Given the description of an element on the screen output the (x, y) to click on. 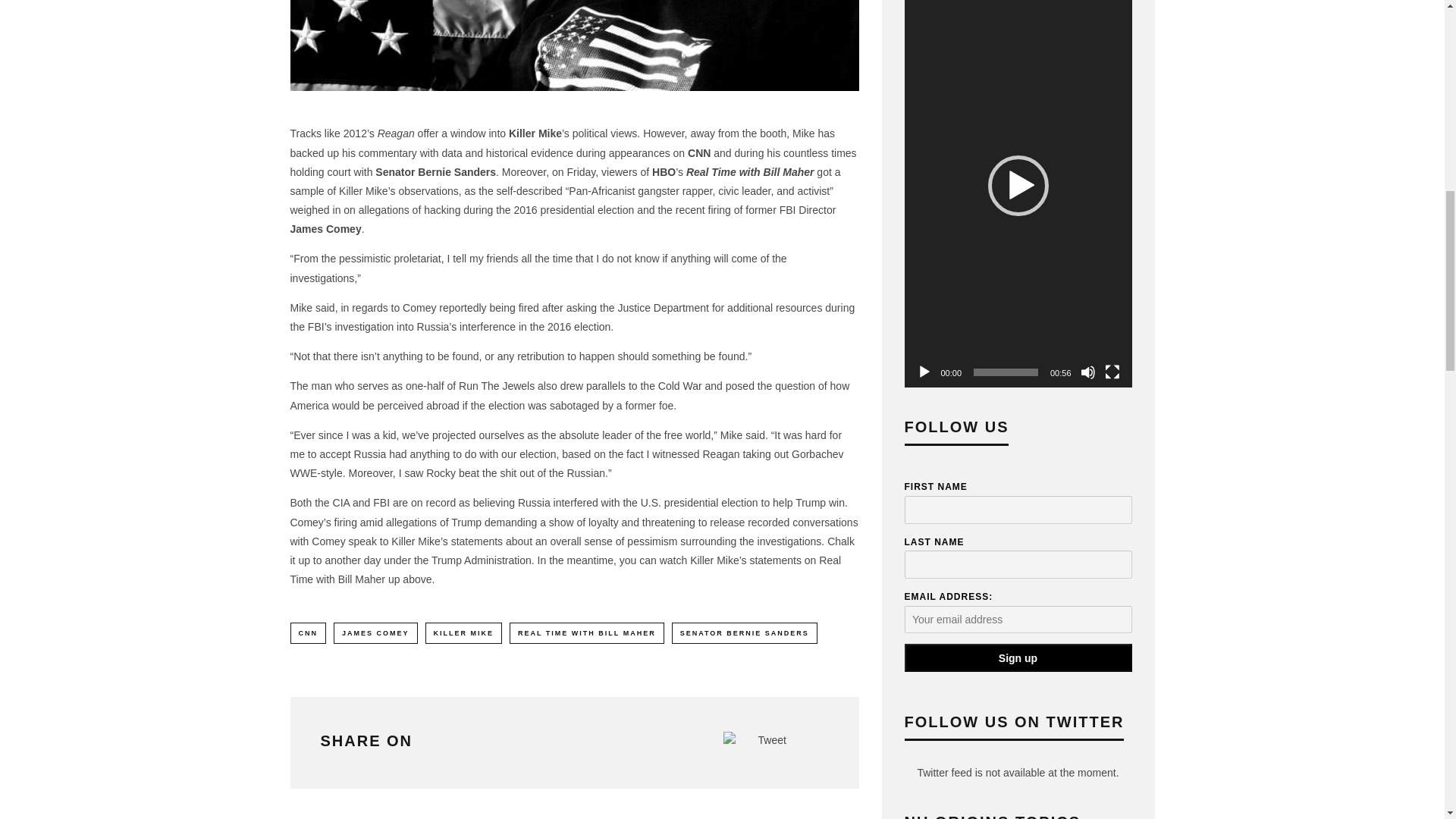
Fullscreen (1111, 372)
Sign up (1017, 657)
Mute (1087, 372)
Play (923, 372)
